Given the description of an element on the screen output the (x, y) to click on. 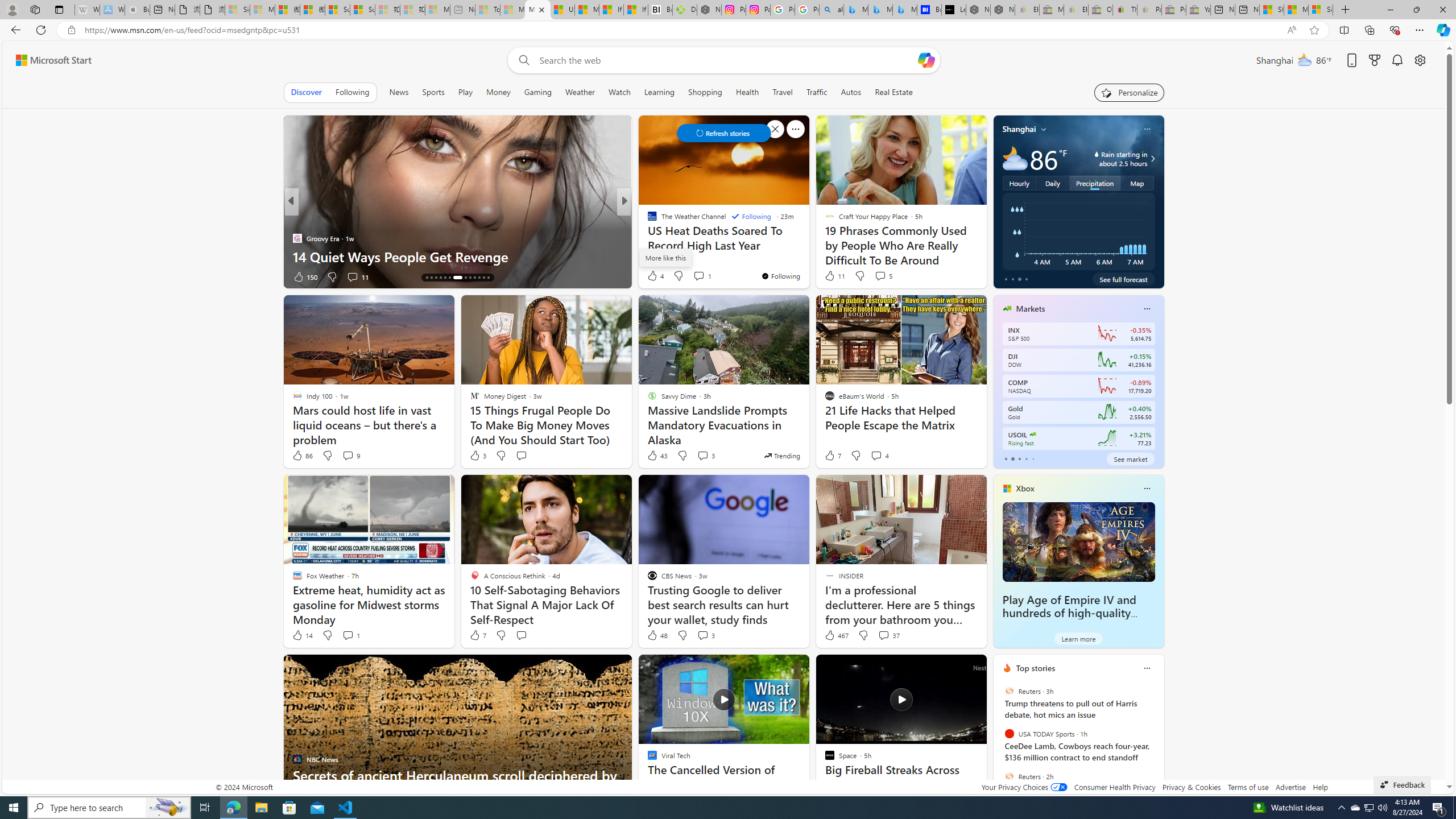
View comments 2 Comment (698, 276)
150 Like (304, 276)
App bar (728, 29)
Health (746, 92)
Tab actions menu (58, 9)
Wikipedia - Sleeping (86, 9)
Sign in to your Microsoft account - Sleeping (236, 9)
Microsoft Bing Travel - Shangri-La Hotel Bangkok (904, 9)
View comments 35 Comment (707, 276)
14 Quiet Ways People Get Revenge (457, 256)
See market (1130, 459)
Groovy Era (296, 238)
Read aloud this page (Ctrl+Shift+U) (1291, 29)
Browser essentials (1394, 29)
